Given the description of an element on the screen output the (x, y) to click on. 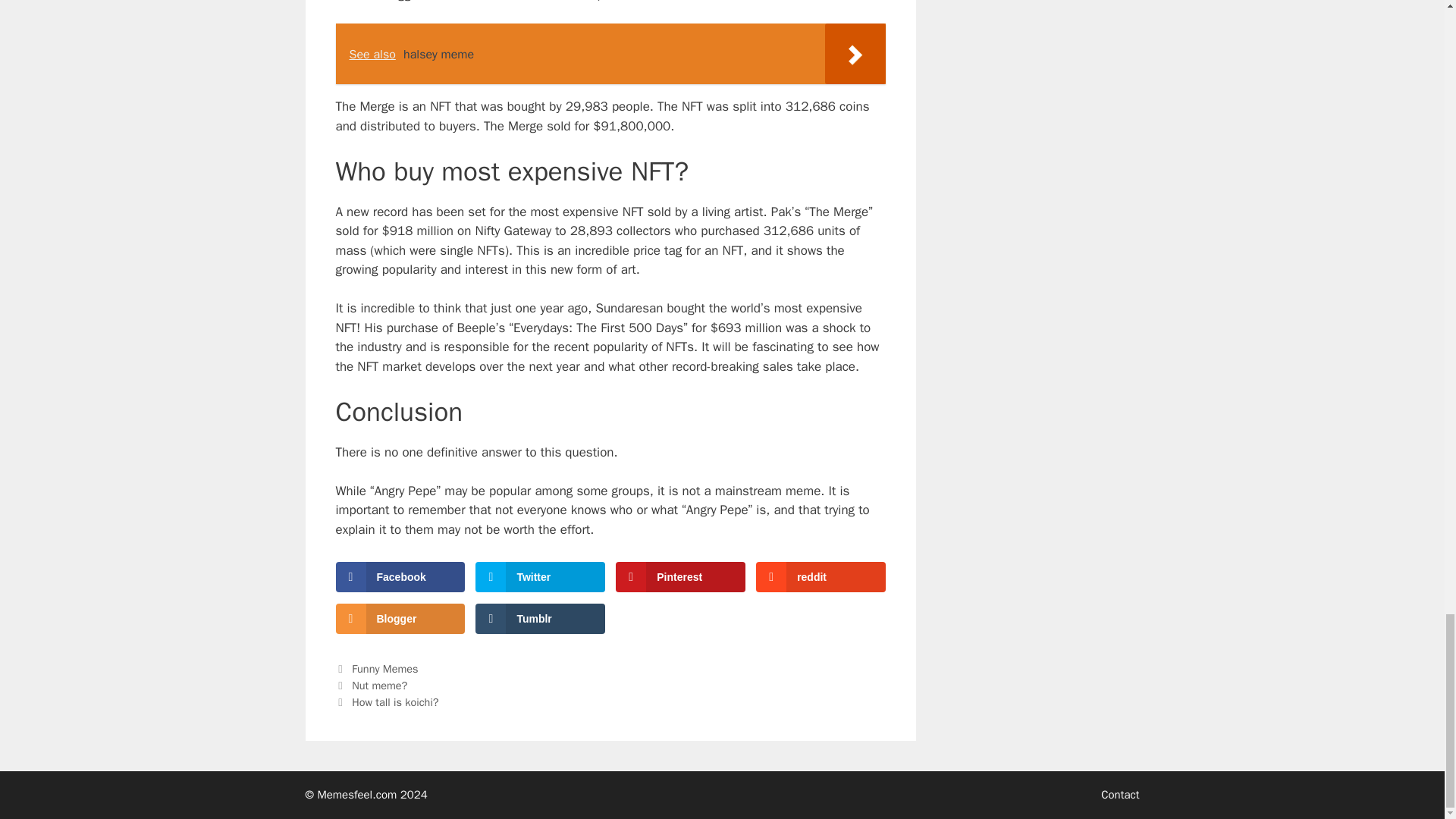
Facebook (399, 576)
Pinterest (679, 576)
See also  halsey meme (609, 53)
Blogger (399, 618)
reddit (820, 576)
Twitter (540, 576)
